Given the description of an element on the screen output the (x, y) to click on. 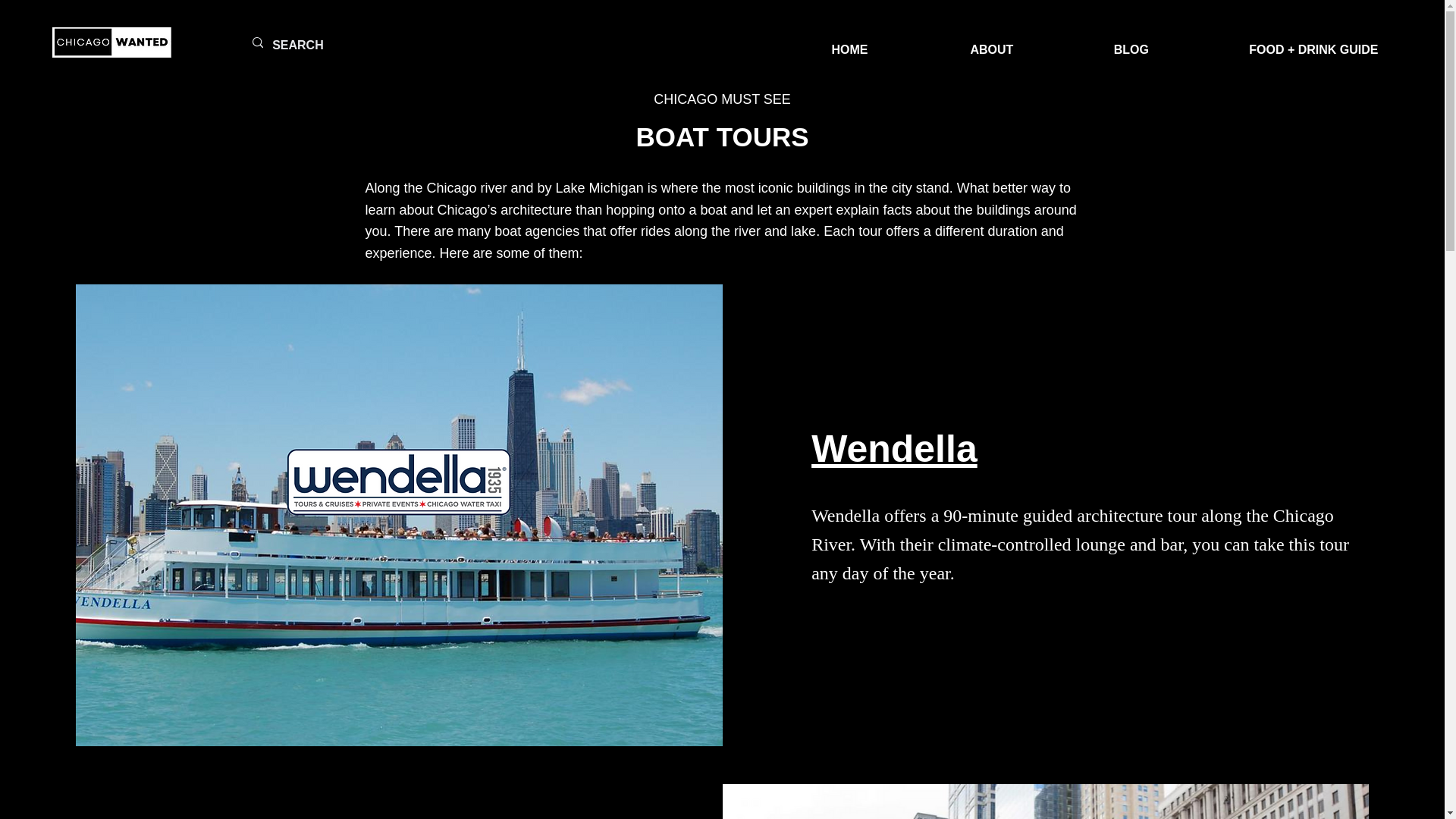
Wendella (893, 448)
BLOG (1131, 42)
HOME (849, 42)
CHICAGO MUST SEE (721, 99)
ABOUT (992, 42)
